Given the description of an element on the screen output the (x, y) to click on. 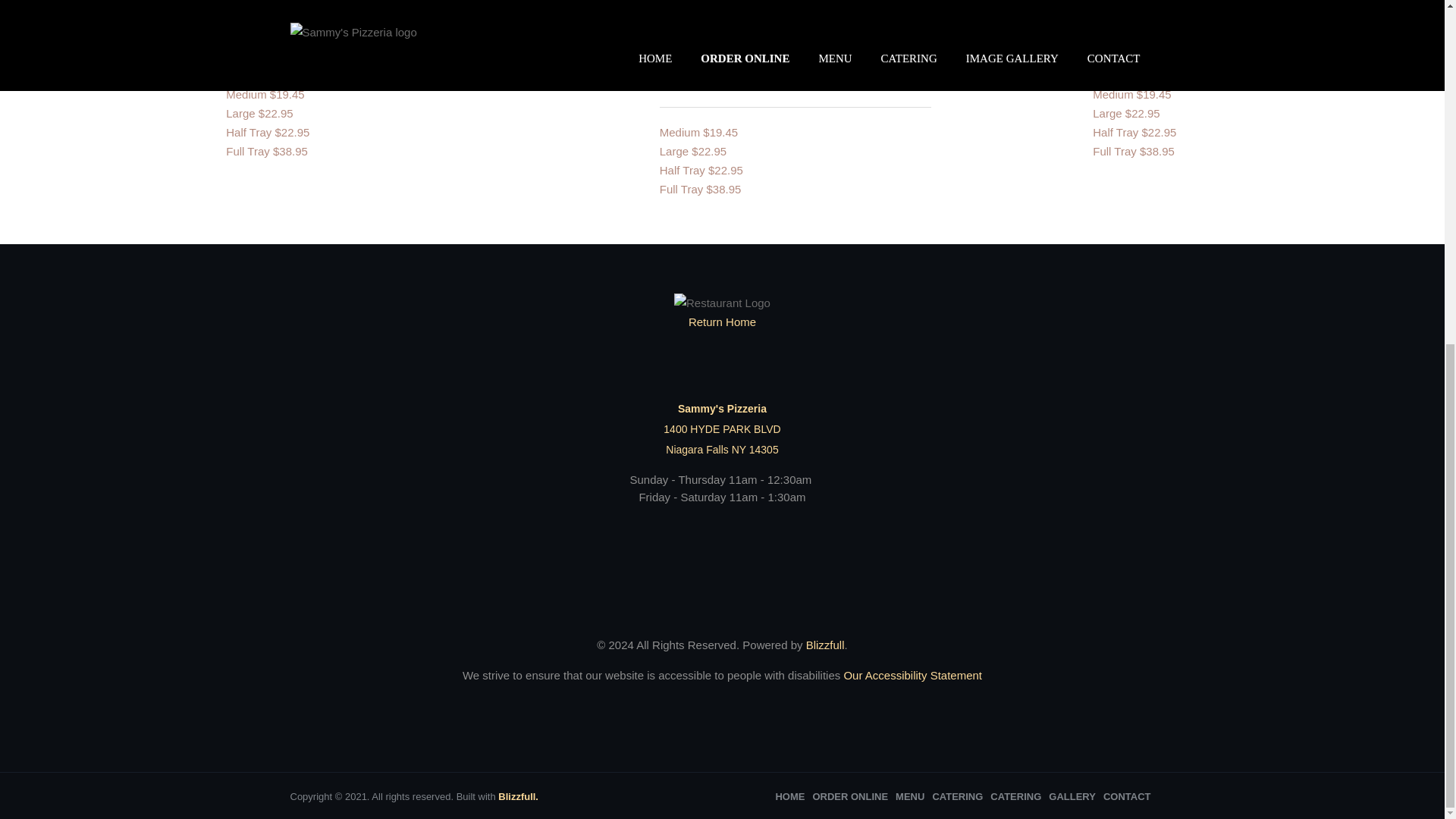
Return Home (722, 312)
CHICKEN ALFREDO PIZZA (311, 7)
GALLERY (1072, 796)
CATERING (1015, 796)
CATERING (956, 796)
HOME (789, 796)
ORDER ONLINE (850, 796)
BEEF-ON-WECK PIZZA (733, 7)
MENU (909, 796)
CONTACT (1127, 796)
WHISTLE PIG PIZZA (1158, 7)
Our Accessibility Statement (910, 675)
Blizzfull (825, 644)
Blizzfull. (517, 796)
Online Ordering and Website Provider (825, 644)
